Given the description of an element on the screen output the (x, y) to click on. 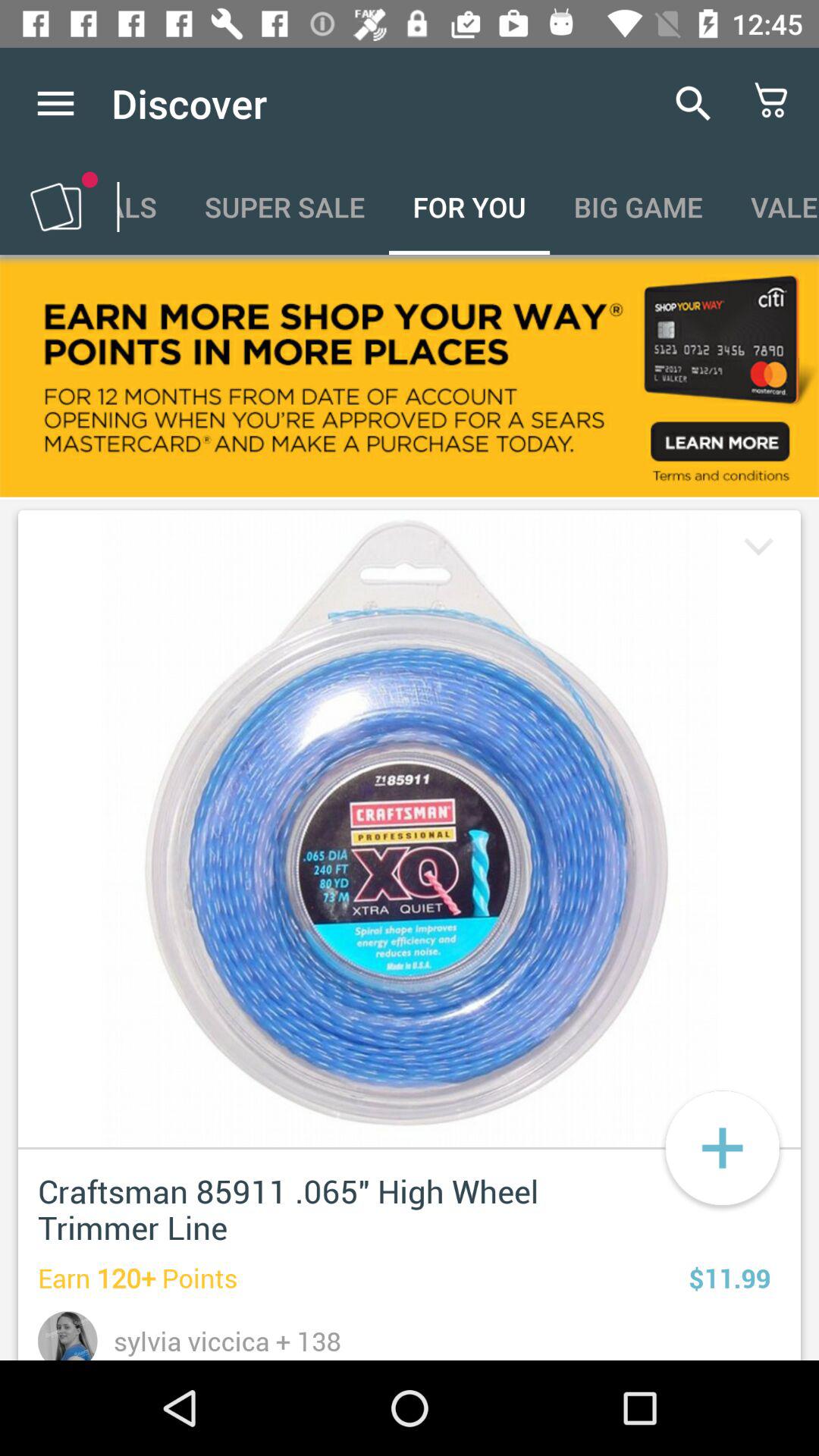
drop down button (755, 549)
